Given the description of an element on the screen output the (x, y) to click on. 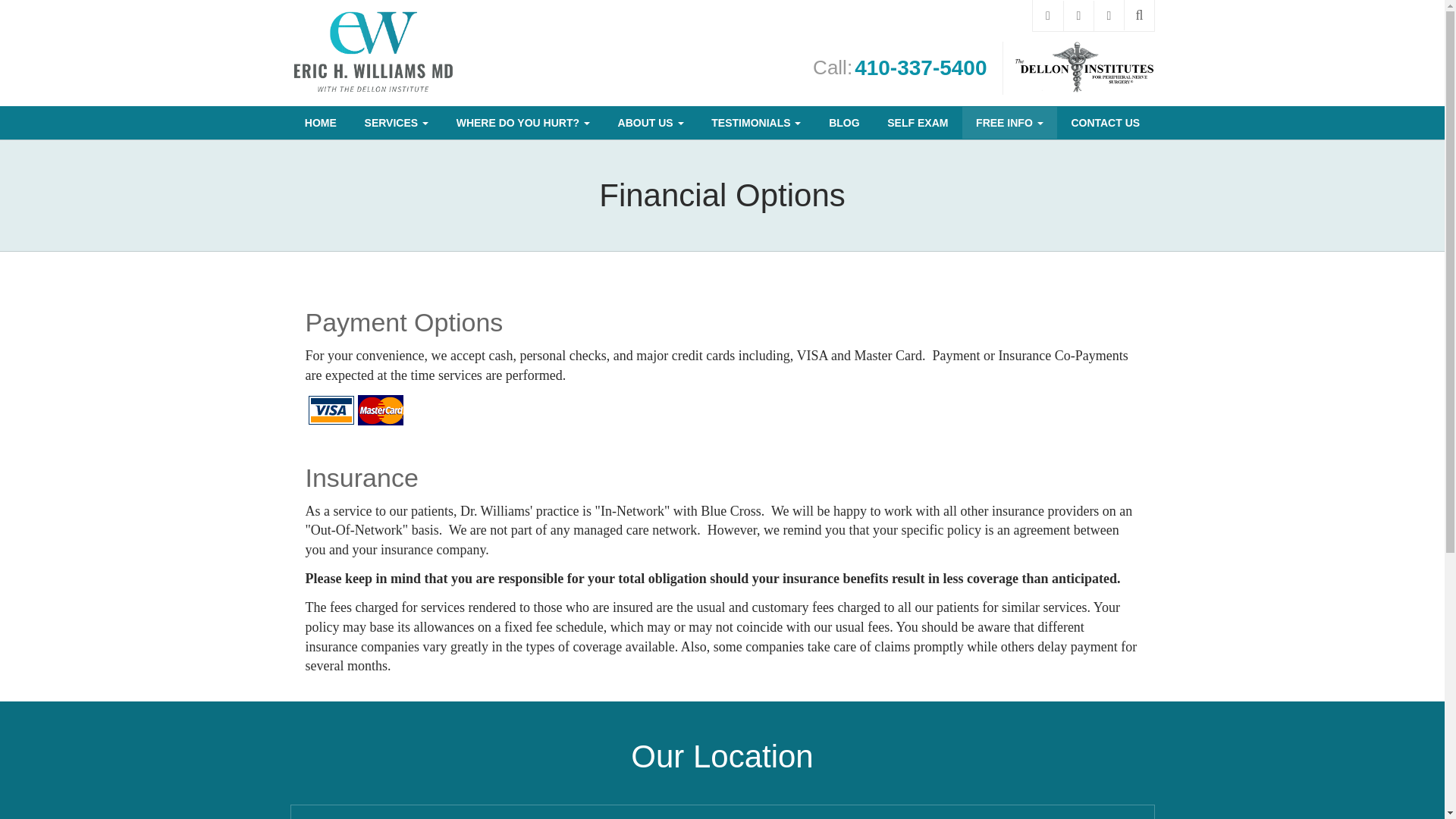
HOME (320, 122)
Search (1139, 15)
SERVICES (396, 122)
ABOUT US (650, 122)
TESTIMONIALS (756, 122)
WHERE DO YOU HURT? (523, 122)
